Given the description of an element on the screen output the (x, y) to click on. 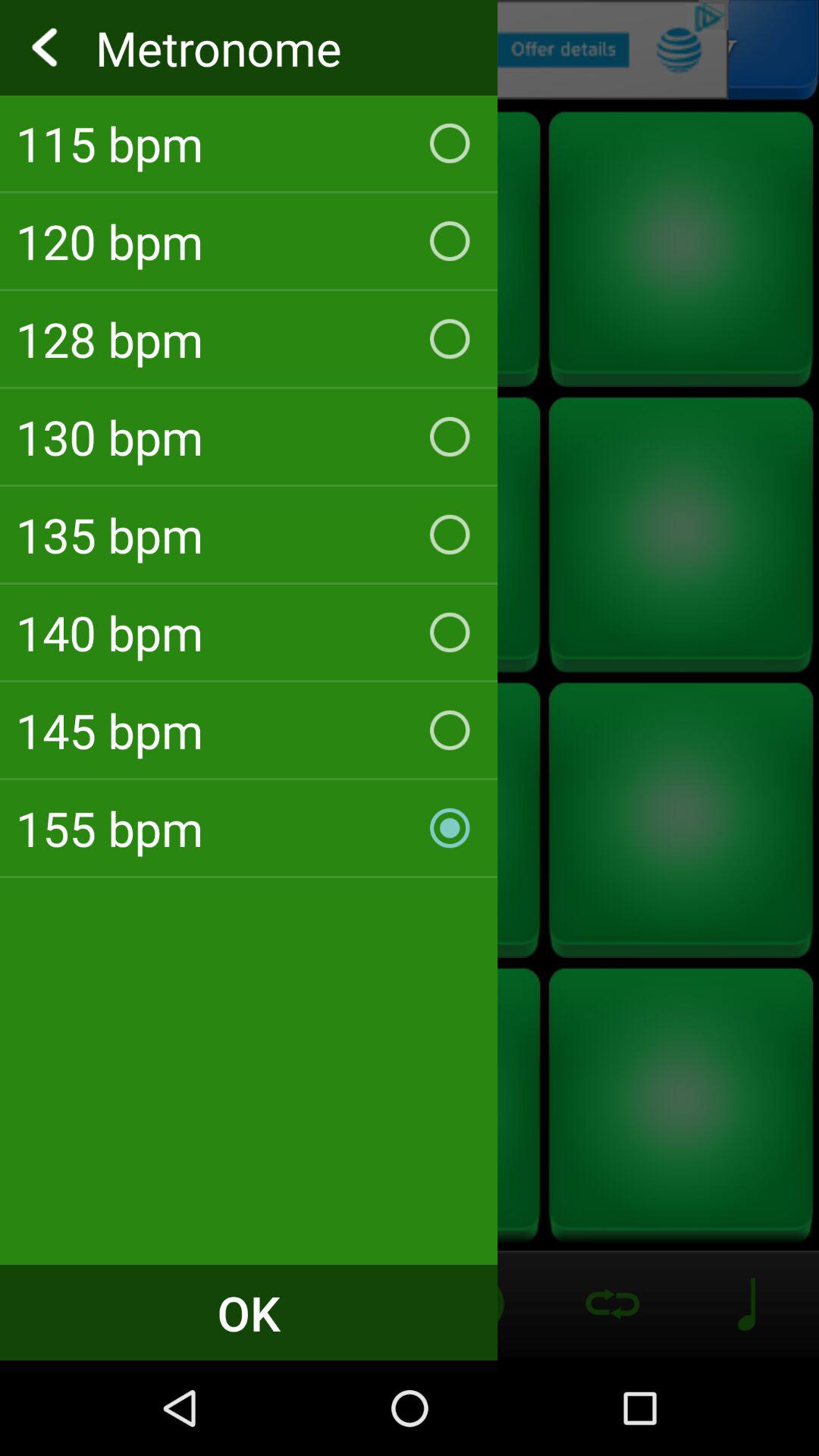
select the 130 bpm icon (248, 436)
